Given the description of an element on the screen output the (x, y) to click on. 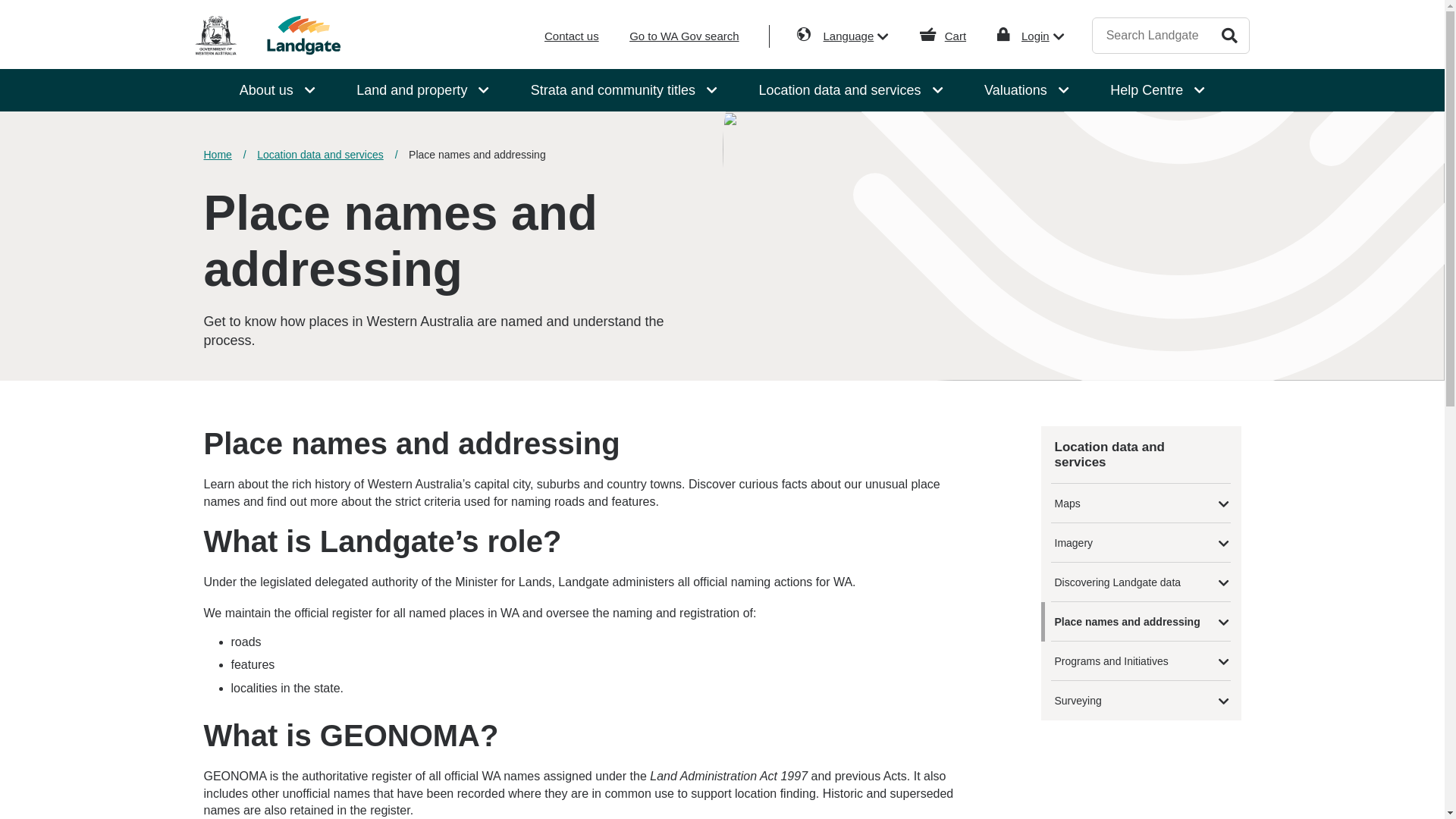
Cart (955, 35)
Language (856, 36)
Search (1229, 34)
Login (1043, 36)
Contact us (571, 35)
Go to WA Gov search (683, 35)
